Given the description of an element on the screen output the (x, y) to click on. 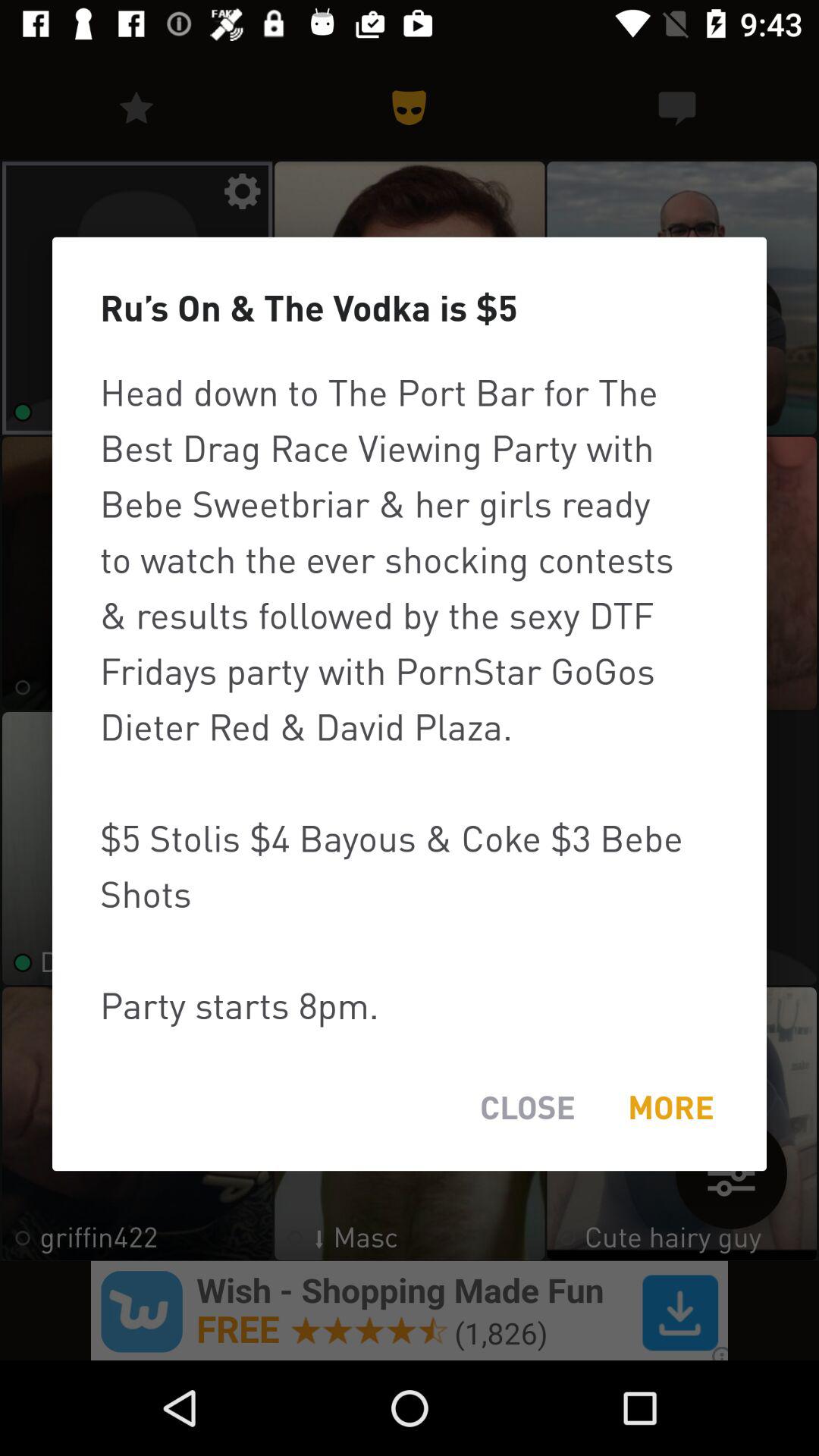
launch the item to the left of the more (527, 1107)
